Given the description of an element on the screen output the (x, y) to click on. 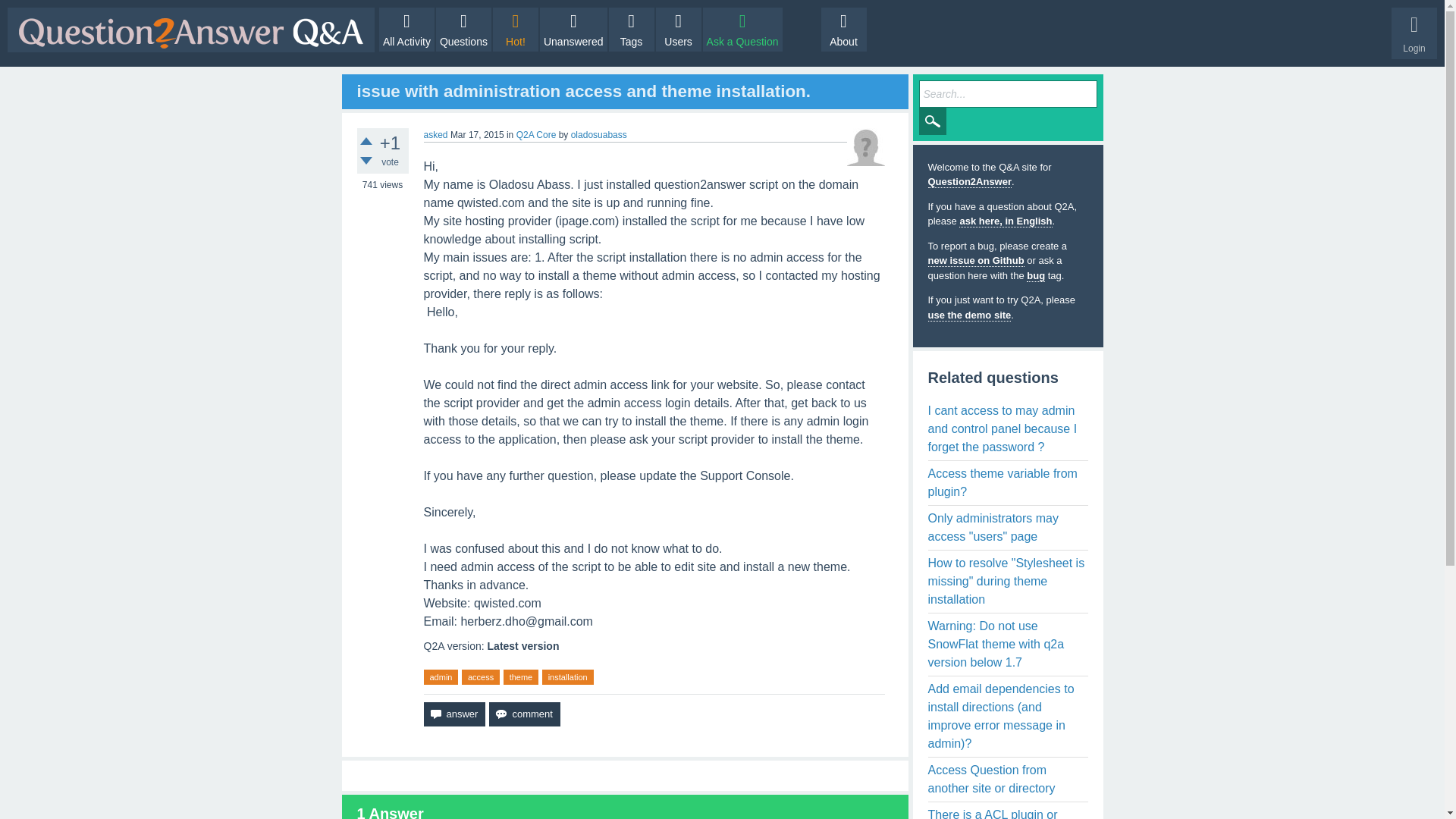
issue with administration access and theme installation. (583, 90)
comment (524, 713)
admin (440, 677)
access (480, 677)
Tags (630, 29)
answer (453, 713)
Q2A Core (536, 134)
theme (520, 677)
Questions (463, 29)
Unanswered (573, 29)
